Given the description of an element on the screen output the (x, y) to click on. 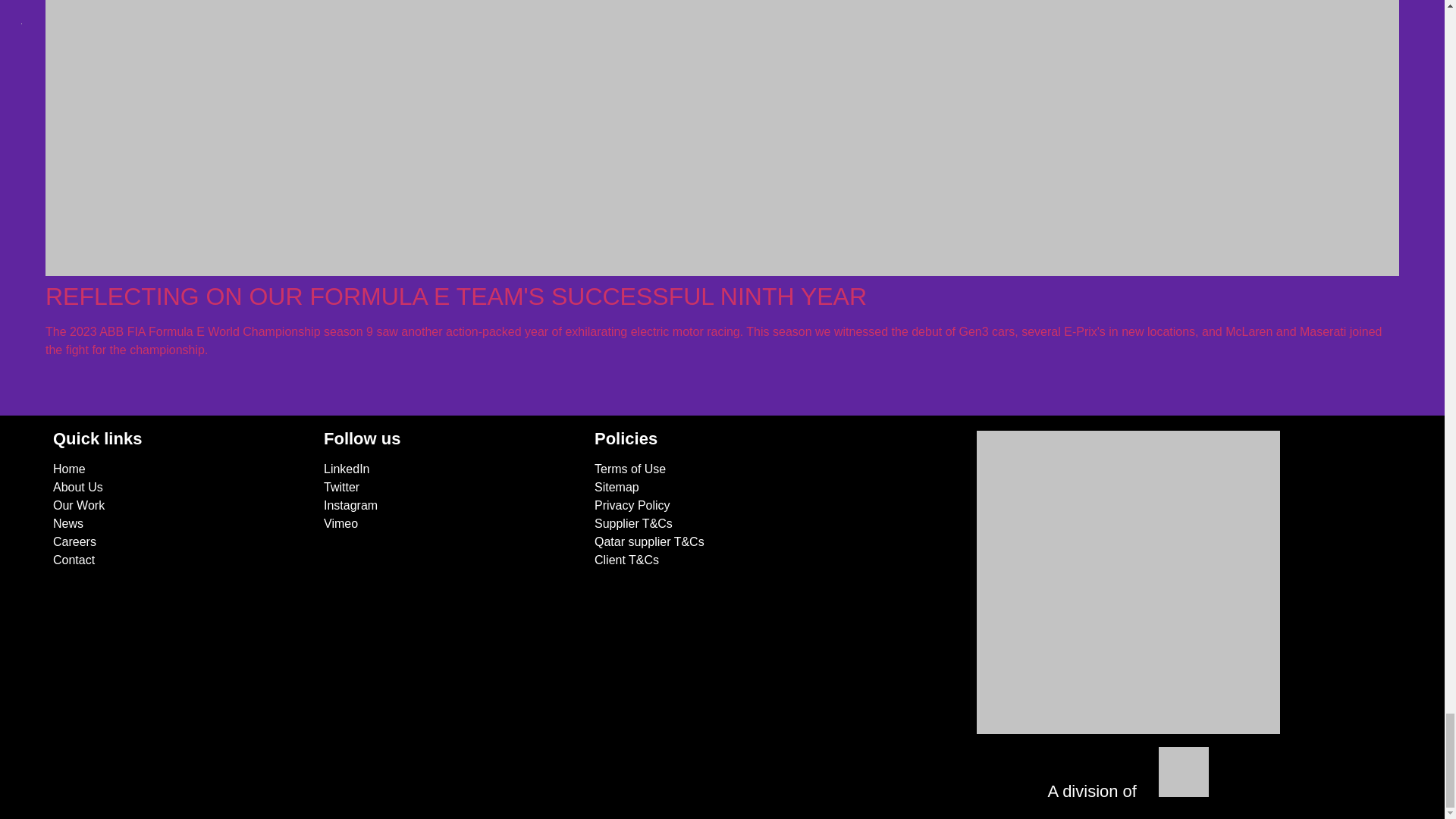
LinkedIn (346, 468)
News (67, 522)
Privacy Policy (631, 504)
Contact (73, 559)
About Us (77, 486)
Home (68, 468)
Vimeo (340, 522)
Twitter (341, 486)
Instagram (350, 504)
Terms of Use (629, 468)
